Given the description of an element on the screen output the (x, y) to click on. 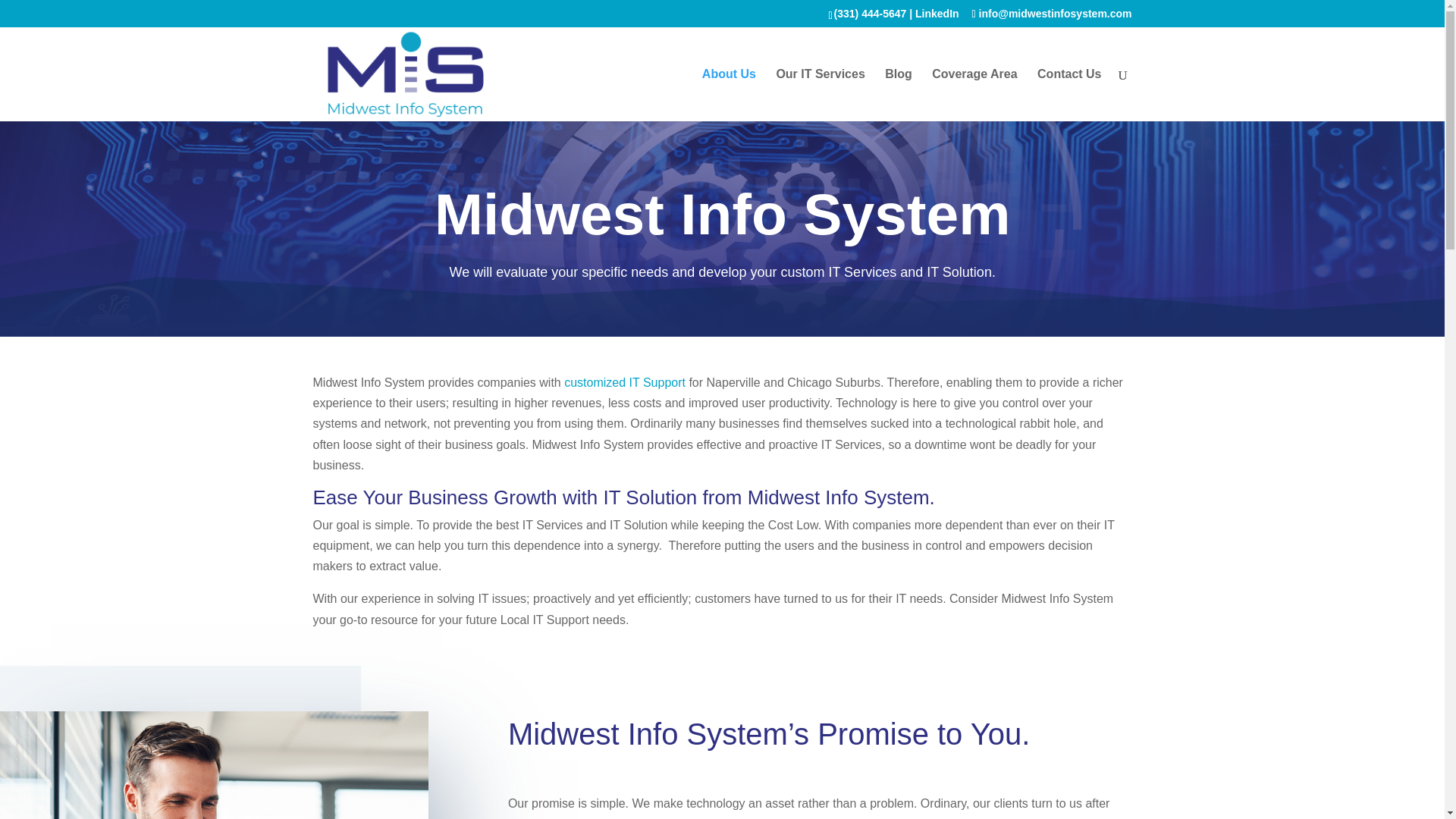
About Us (728, 94)
customized IT Support (624, 382)
Contact Us (1068, 94)
LinkedIn (937, 13)
Our IT Services (820, 94)
Coverage Area (973, 94)
